Given the description of an element on the screen output the (x, y) to click on. 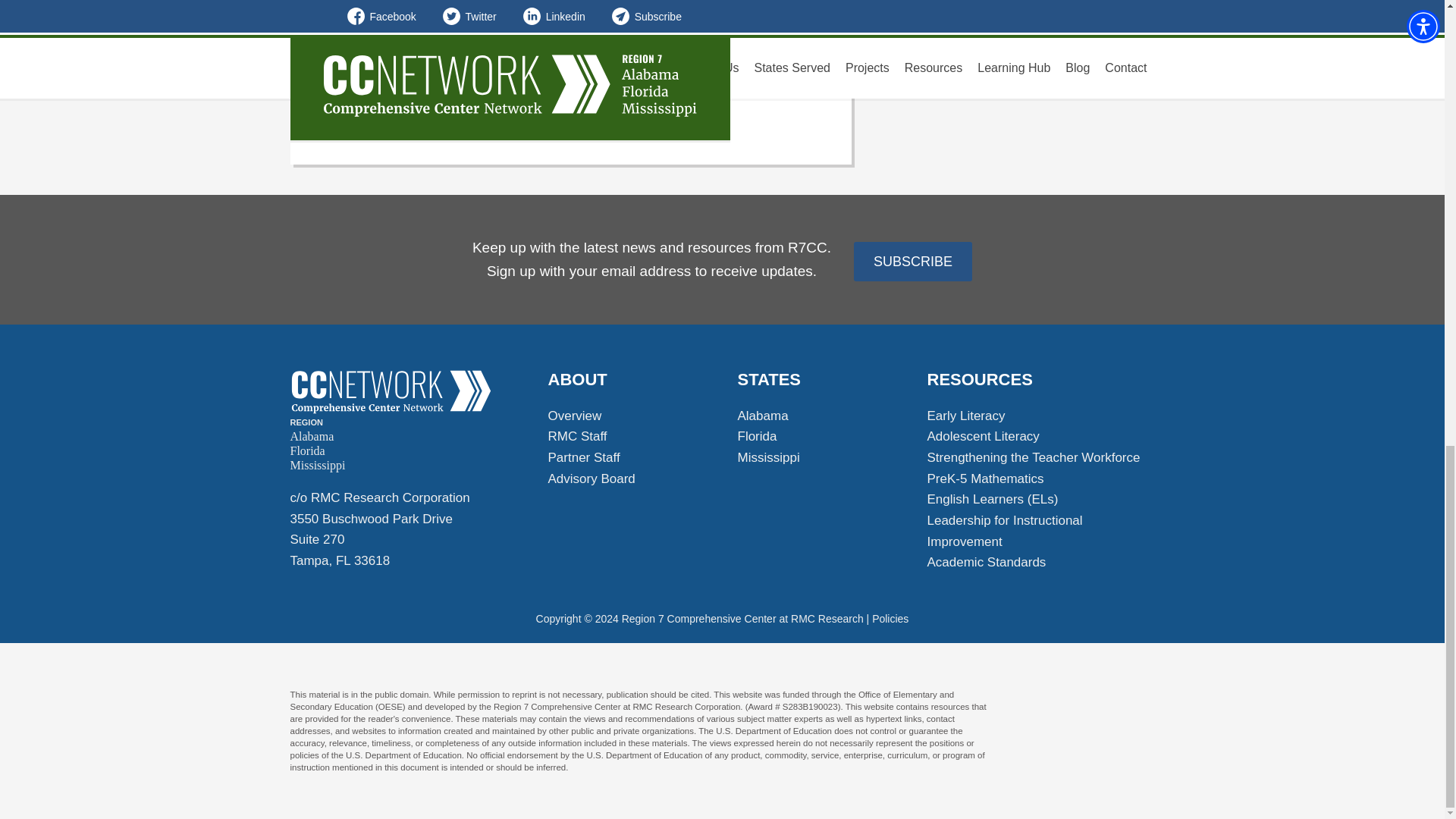
Diana Sharp (390, 392)
